Given the description of an element on the screen output the (x, y) to click on. 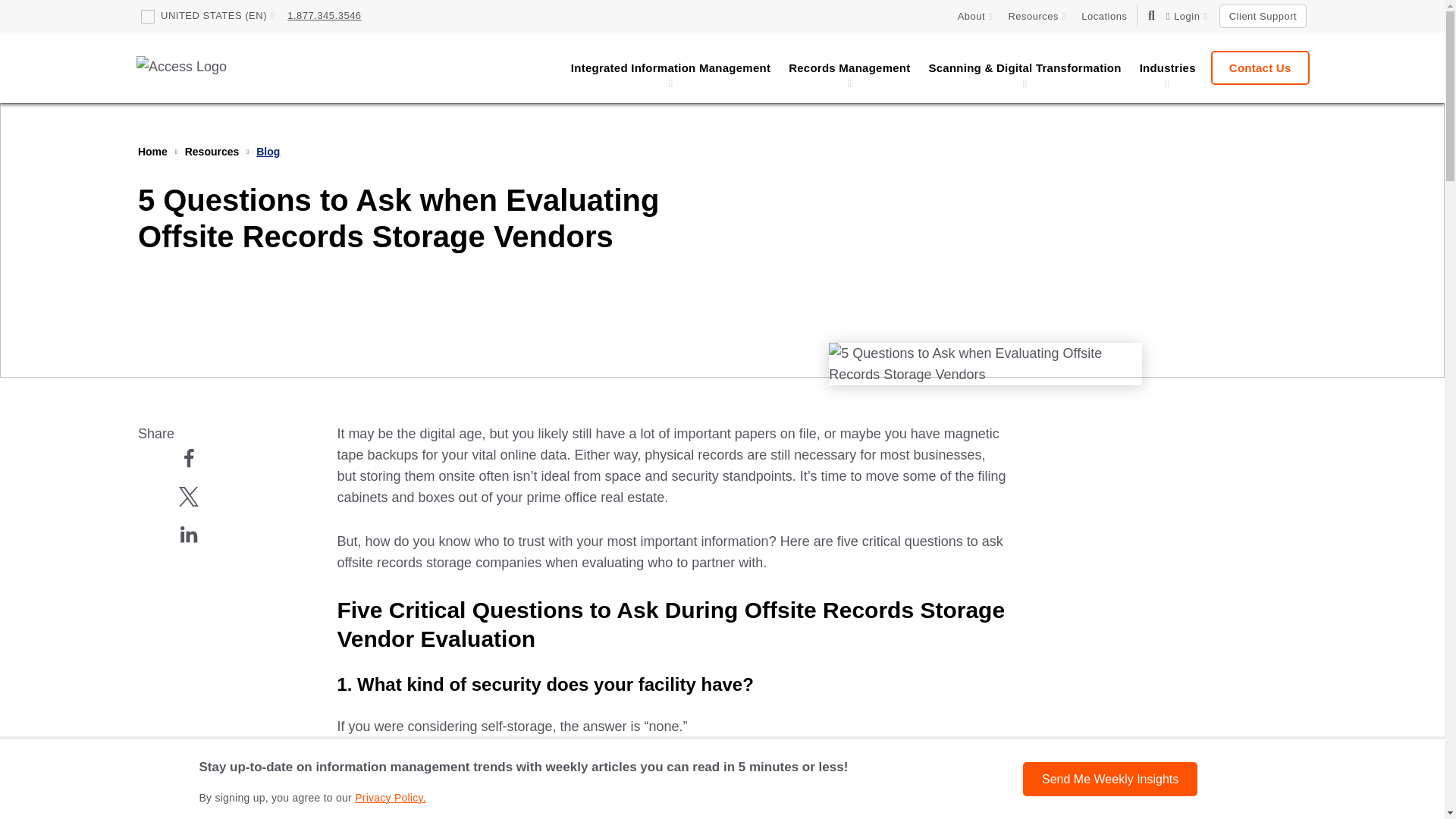
Resources (1037, 16)
About (975, 16)
1.877.345.3546 (323, 15)
Client Support (1263, 15)
Locations (1103, 16)
Login (1187, 16)
Resources (1037, 16)
Skip to Main Content (76, 19)
About (975, 16)
Integrated Information Management (670, 67)
